Given the description of an element on the screen output the (x, y) to click on. 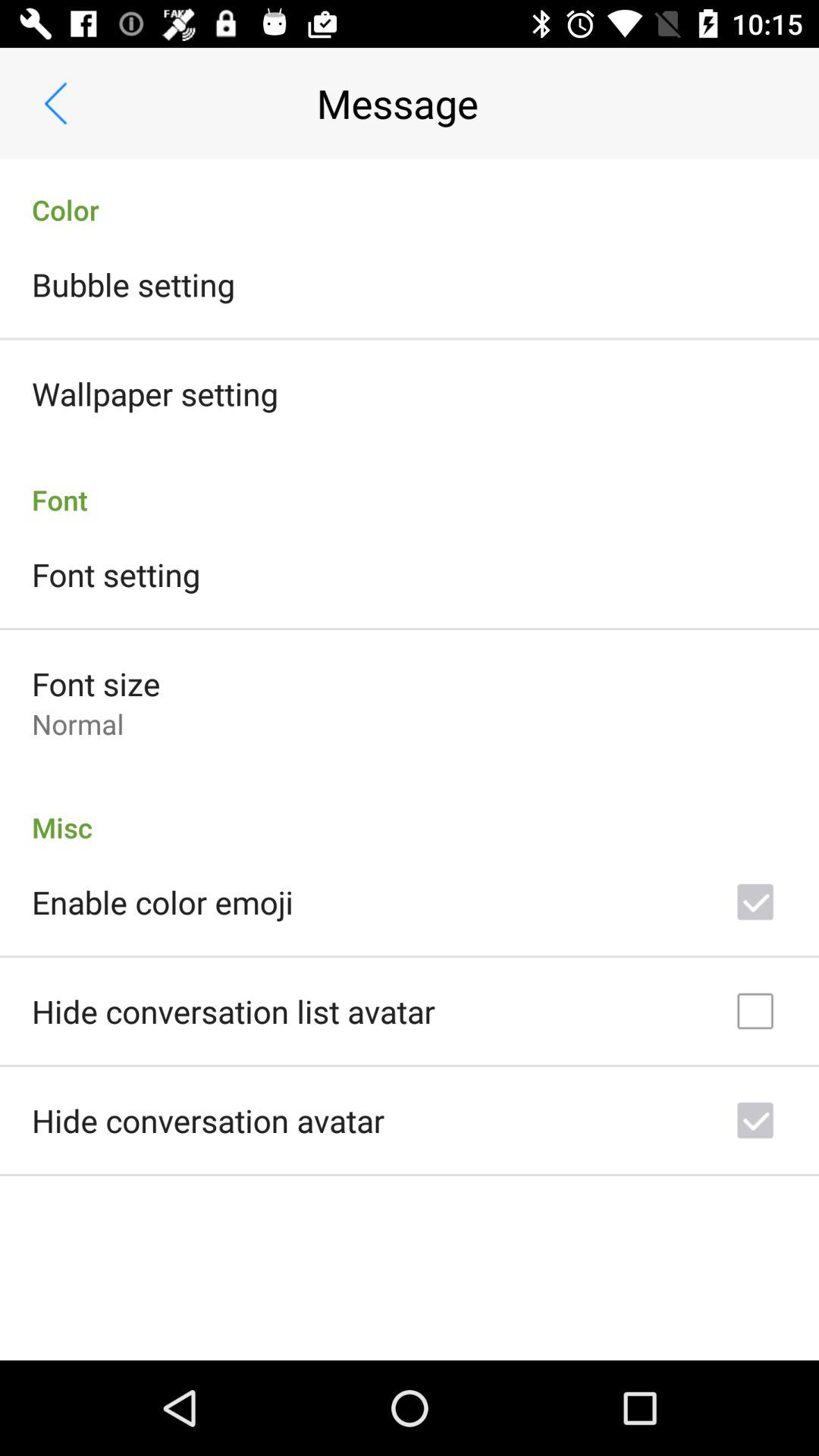
scroll until font setting icon (115, 574)
